Given the description of an element on the screen output the (x, y) to click on. 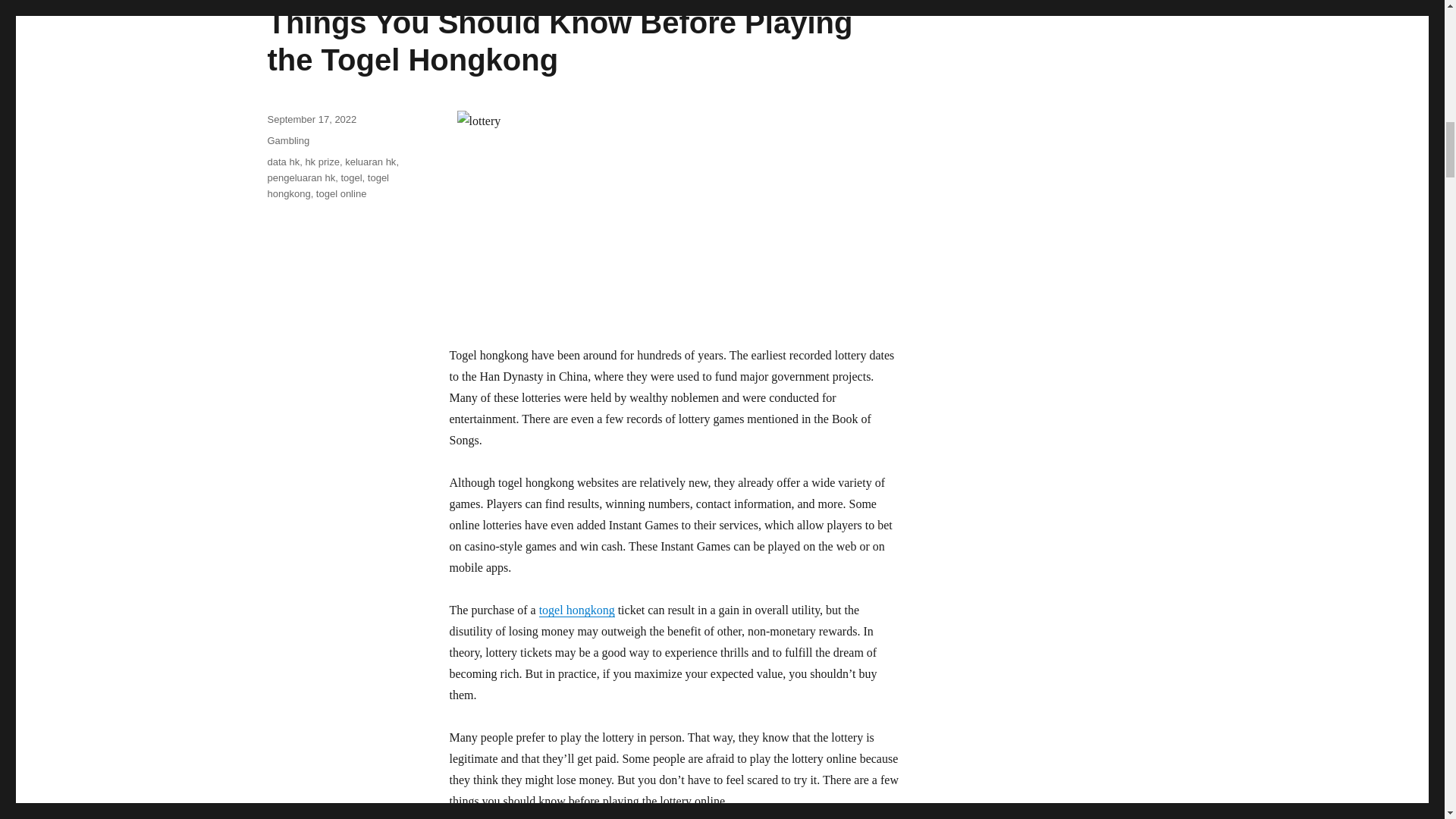
togel hongkong (576, 609)
pengeluaran hk (300, 177)
data hk (282, 161)
Gambling (287, 140)
togel hongkong (327, 185)
Things You Should Know Before Playing the Togel Hongkong (558, 40)
September 17, 2022 (311, 119)
togel (350, 177)
keluaran hk (370, 161)
hk prize (321, 161)
togel online (340, 193)
